Given the description of an element on the screen output the (x, y) to click on. 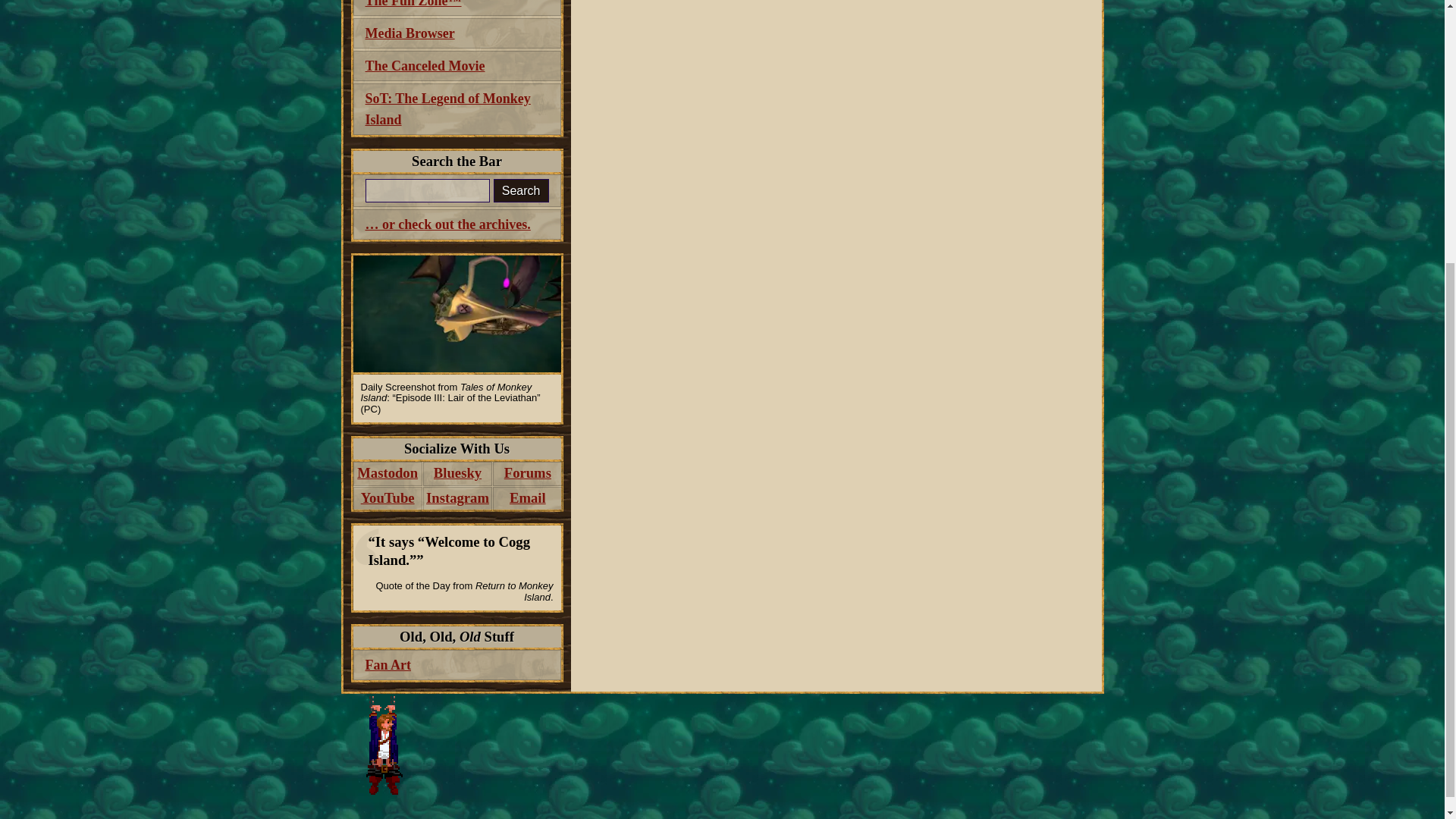
Search (520, 190)
Forums (527, 473)
YouTube (387, 498)
SoT: The Legend of Monkey Island (456, 109)
Mastodon (387, 473)
Media Browser (456, 33)
Bluesky (457, 473)
The Canceled Movie (456, 65)
Instagram (457, 498)
Fan Art (456, 665)
